Given the description of an element on the screen output the (x, y) to click on. 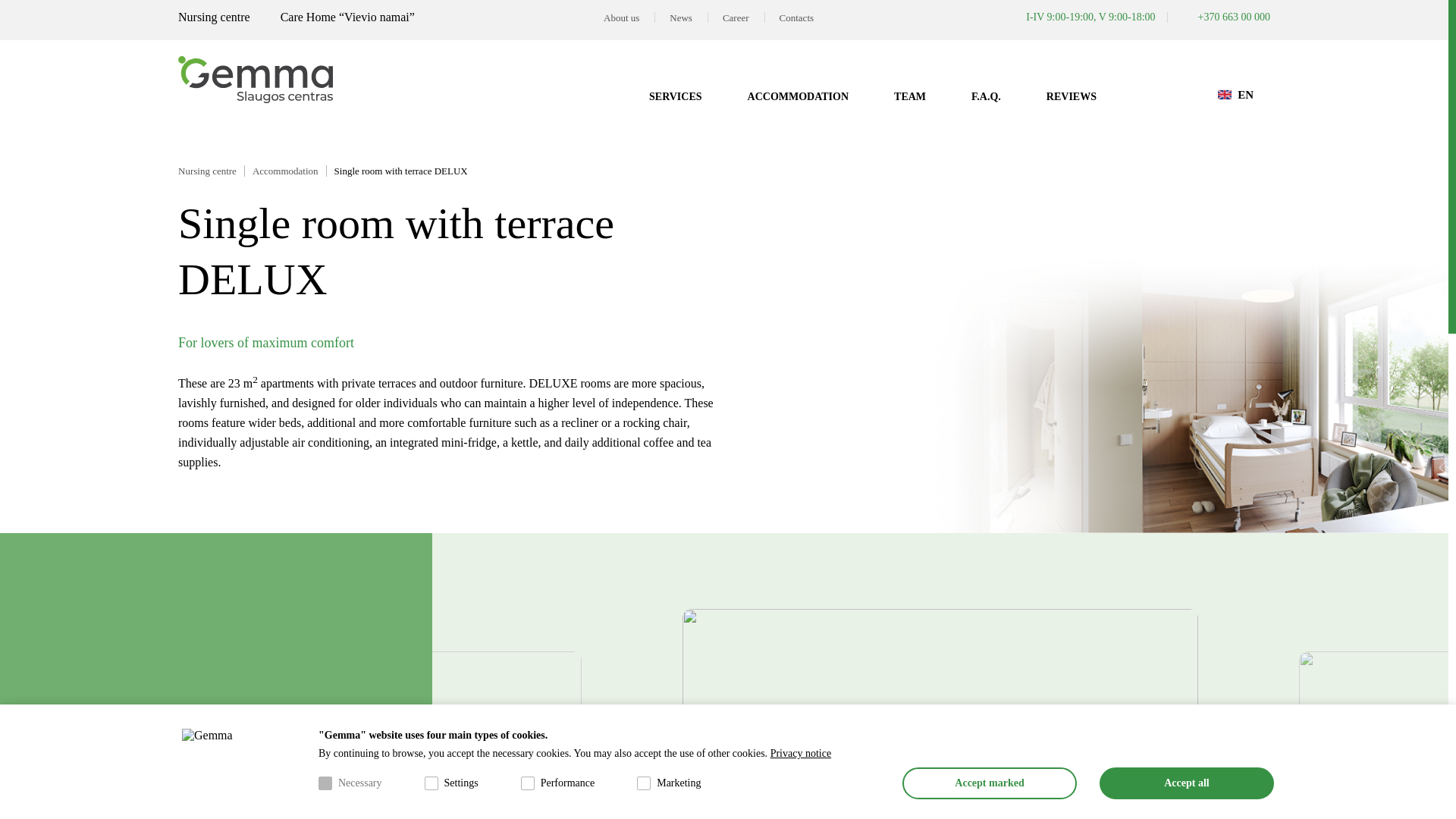
About us (620, 17)
Career (735, 17)
Nursing centre (210, 170)
Contacts (796, 17)
Accommodation (798, 96)
SERVICES (675, 96)
News (680, 17)
Career (735, 17)
About us (620, 17)
Single room with terrace DELUX (405, 170)
Accept all (1186, 783)
F.A.Q. (986, 96)
EN (1235, 93)
Privacy notice (800, 753)
Reviews (1071, 96)
